Given the description of an element on the screen output the (x, y) to click on. 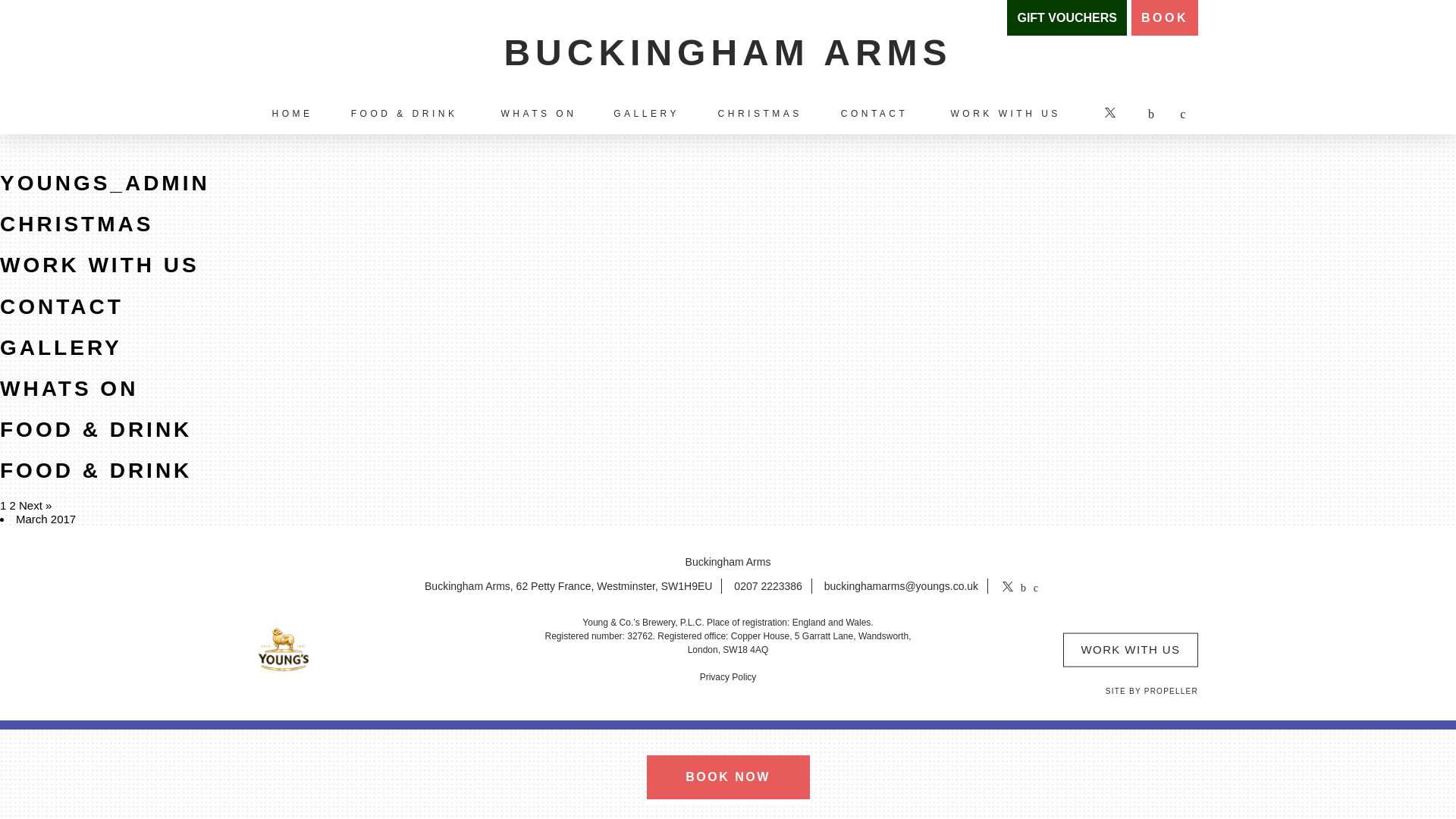
BUCKINGHAM ARMS (727, 47)
CONTACT (874, 114)
WORK WITH US (1130, 649)
BOOK (1164, 18)
GALLERY (61, 347)
WORK WITH US (99, 264)
SITE BY PROPELLER (1151, 691)
March 2017 (45, 518)
CHRISTMAS (76, 223)
GIFT VOUCHERS (1066, 18)
WHATS ON (69, 388)
WORK WITH US (1005, 114)
CONTACT (61, 306)
Privacy Policy (728, 676)
CHRISTMAS (759, 114)
